Given the description of an element on the screen output the (x, y) to click on. 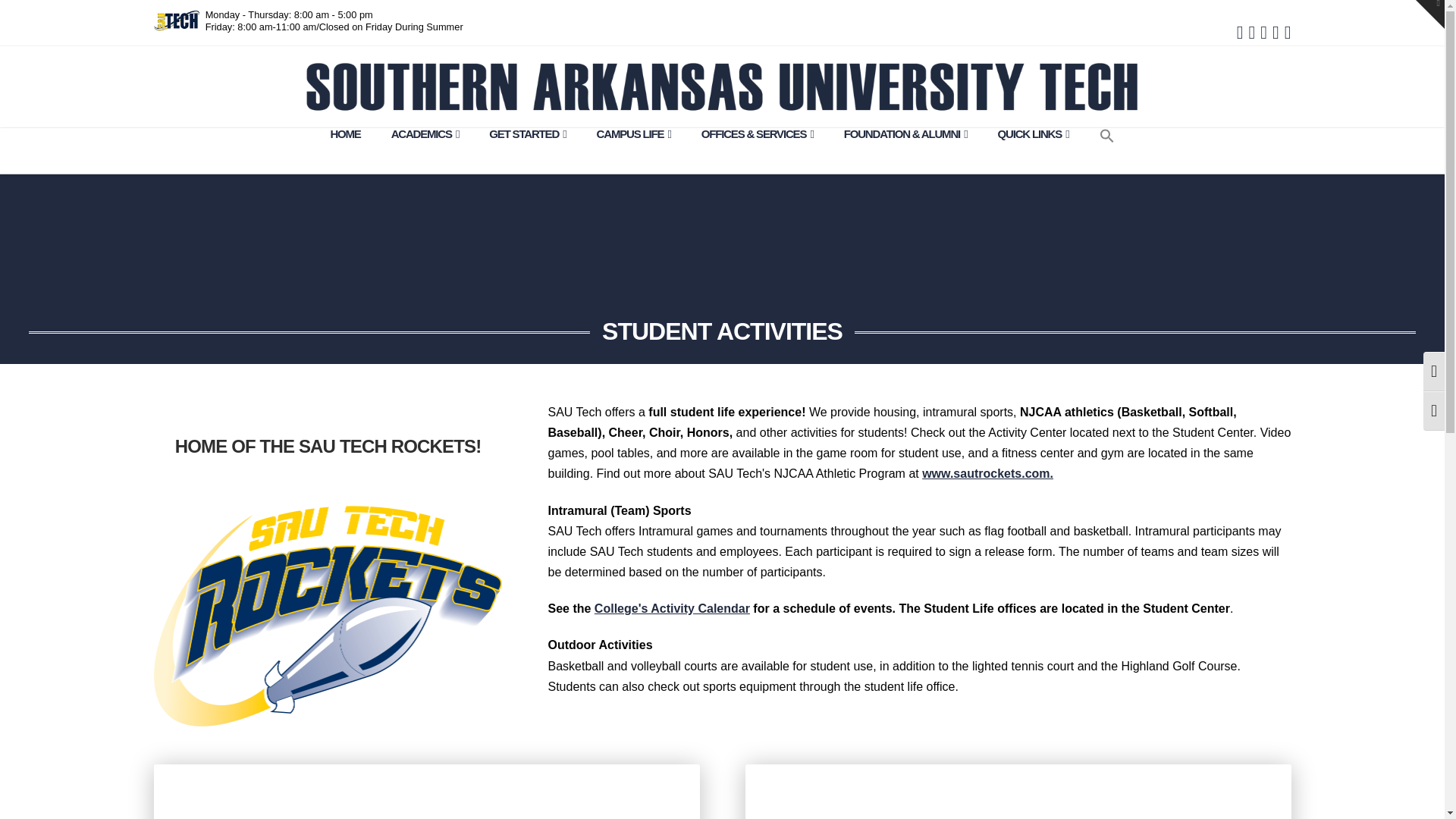
GET STARTED (527, 150)
ACADEMICS (424, 150)
HOME (344, 150)
YouTube video player (1017, 797)
